Given the description of an element on the screen output the (x, y) to click on. 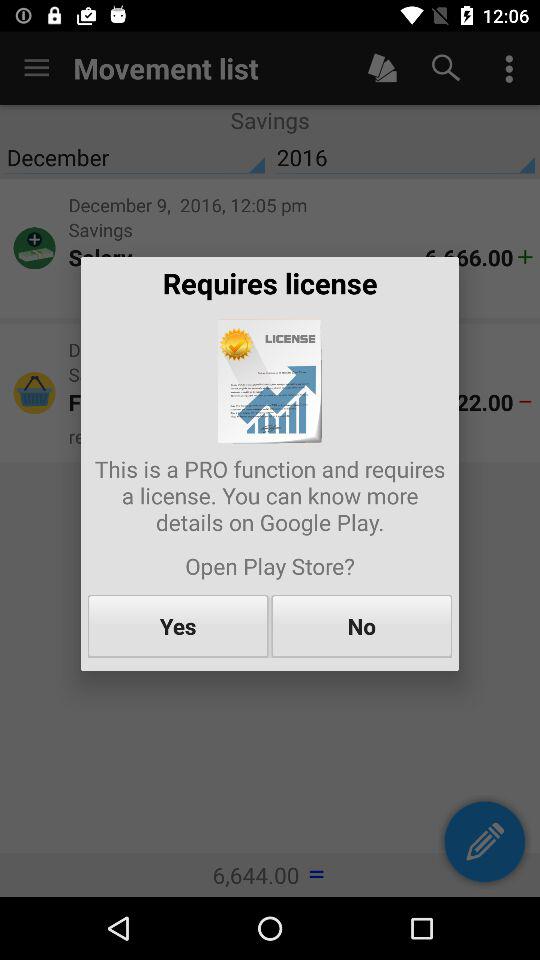
tap the item next to the yes item (361, 625)
